Given the description of an element on the screen output the (x, y) to click on. 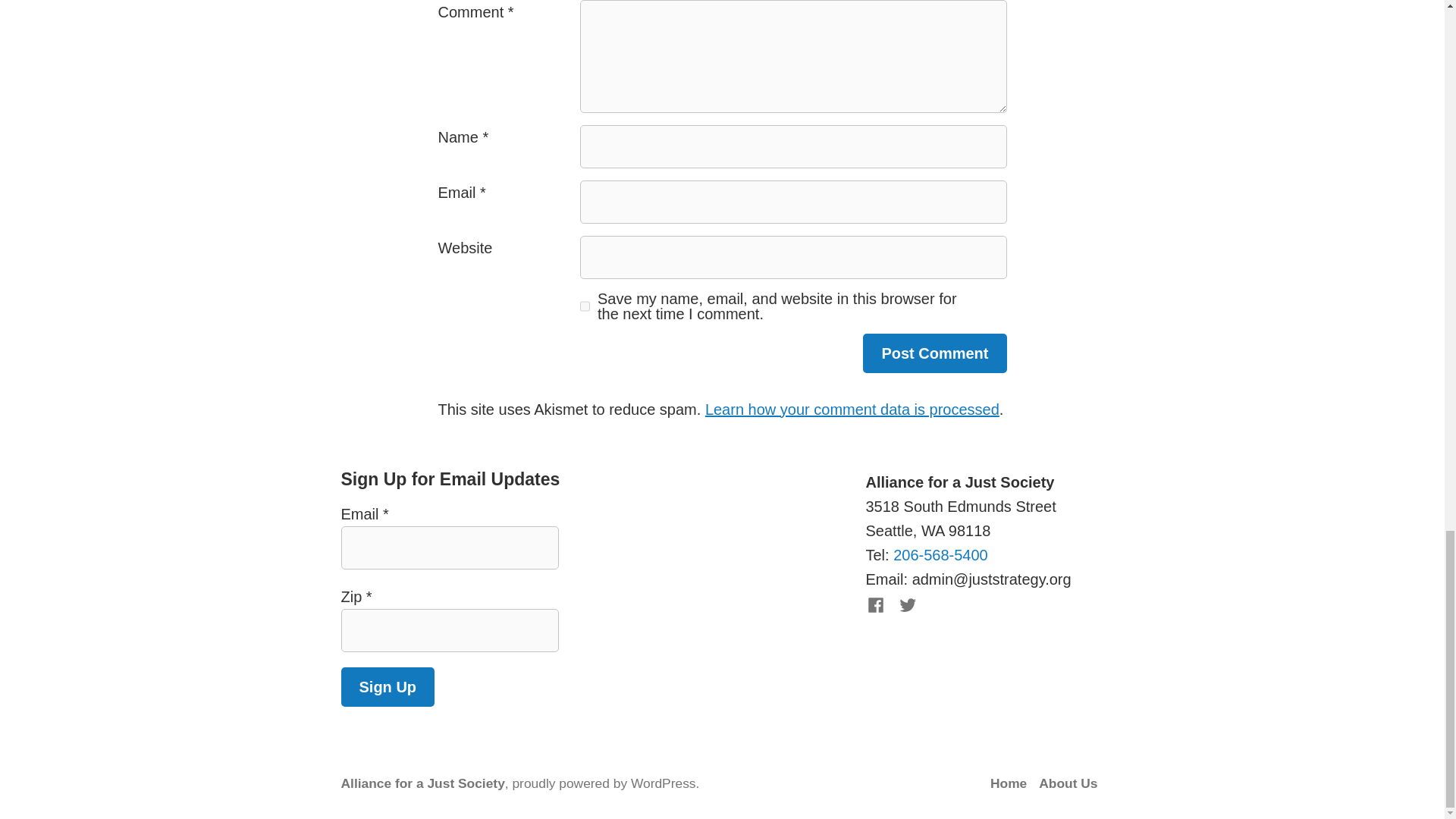
yes (584, 306)
Sign Up (387, 686)
Post Comment (934, 353)
